Given the description of an element on the screen output the (x, y) to click on. 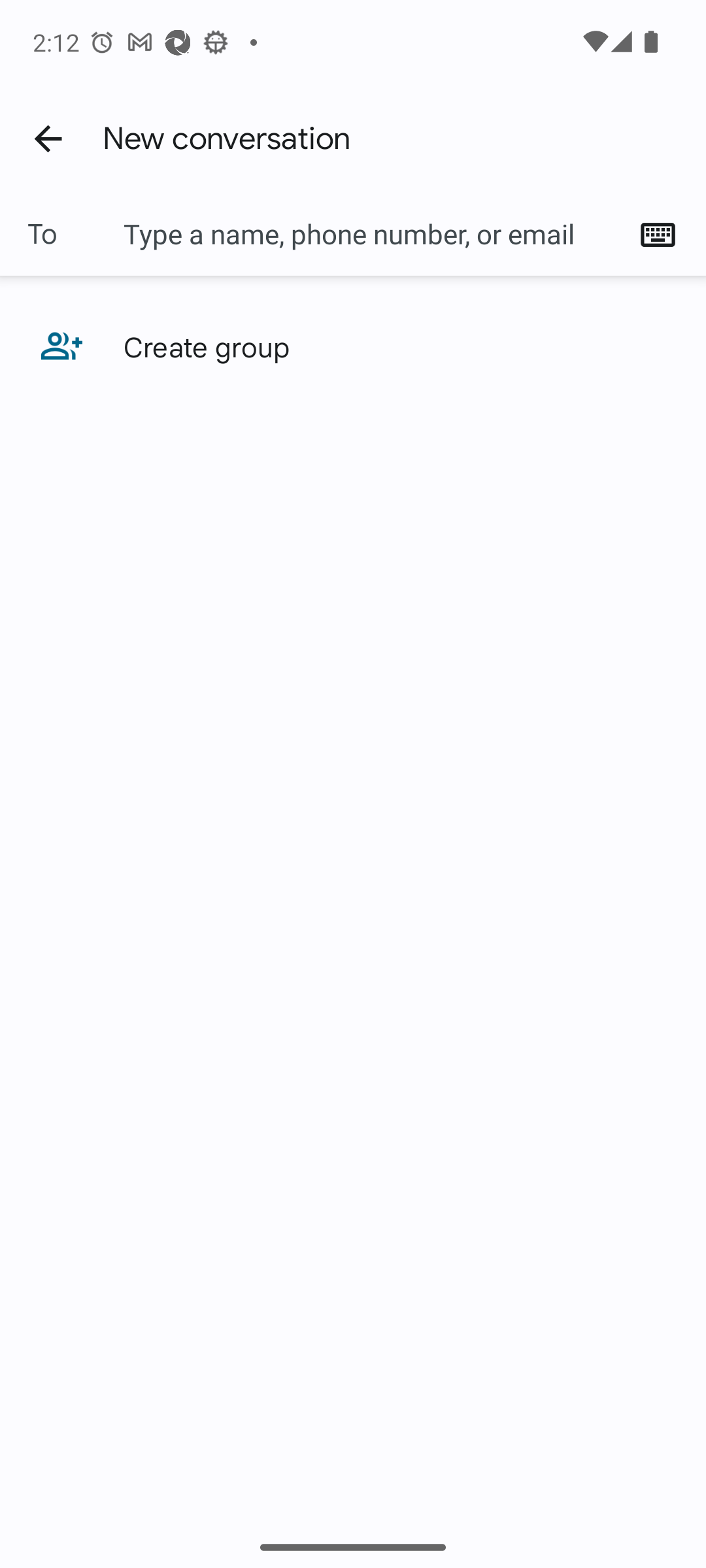
Navigate up (48, 137)
Type a name, phone number, or email (373, 233)
Switch between entering text and numbers (664, 233)
Create group (353, 346)
